Given the description of an element on the screen output the (x, y) to click on. 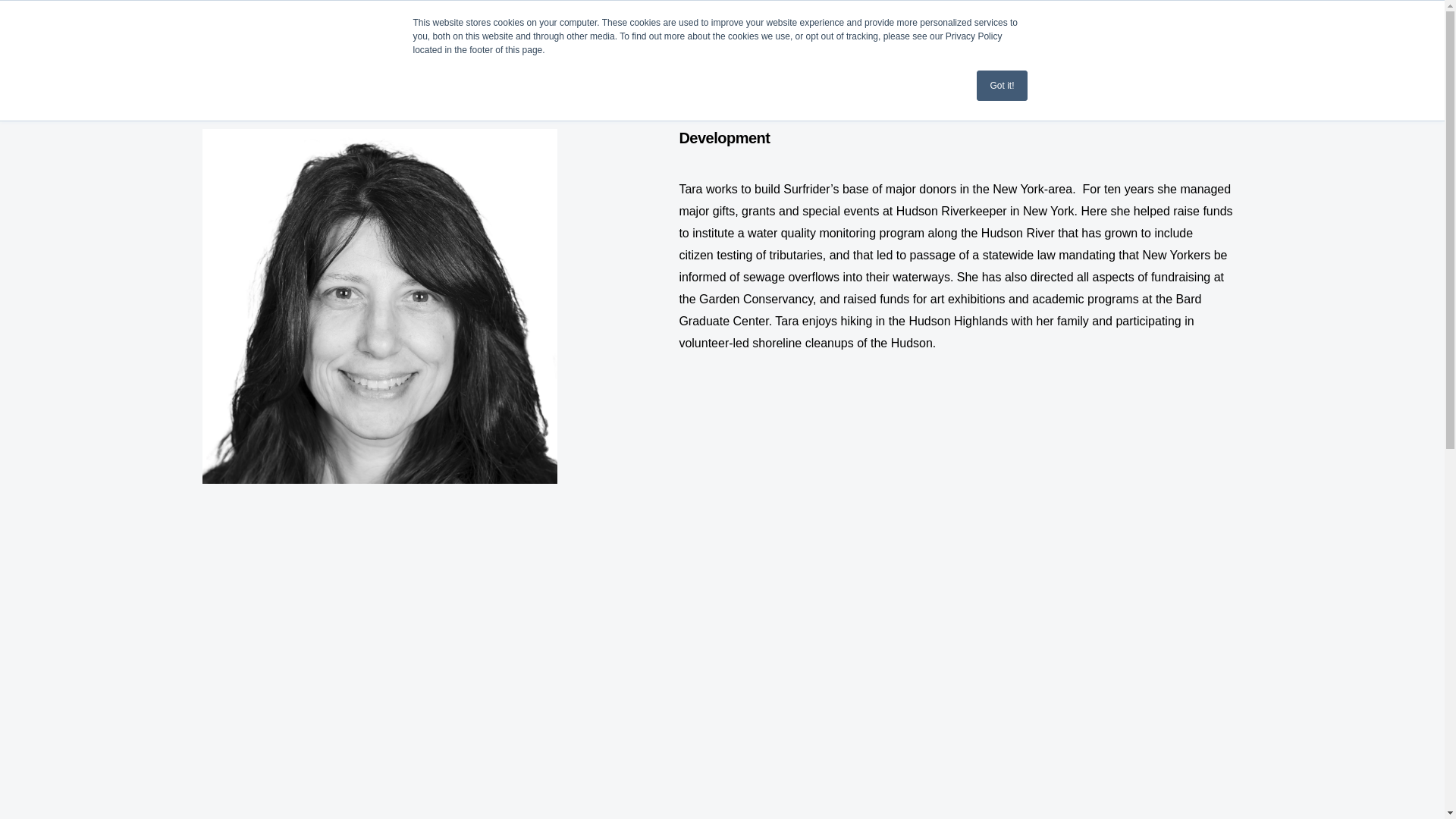
Got it! (1001, 85)
Surfrider Foundation (90, 34)
Shop (621, 34)
Learn (250, 34)
DONATE (1353, 34)
Membership (513, 34)
Get Involved (373, 34)
